Given the description of an element on the screen output the (x, y) to click on. 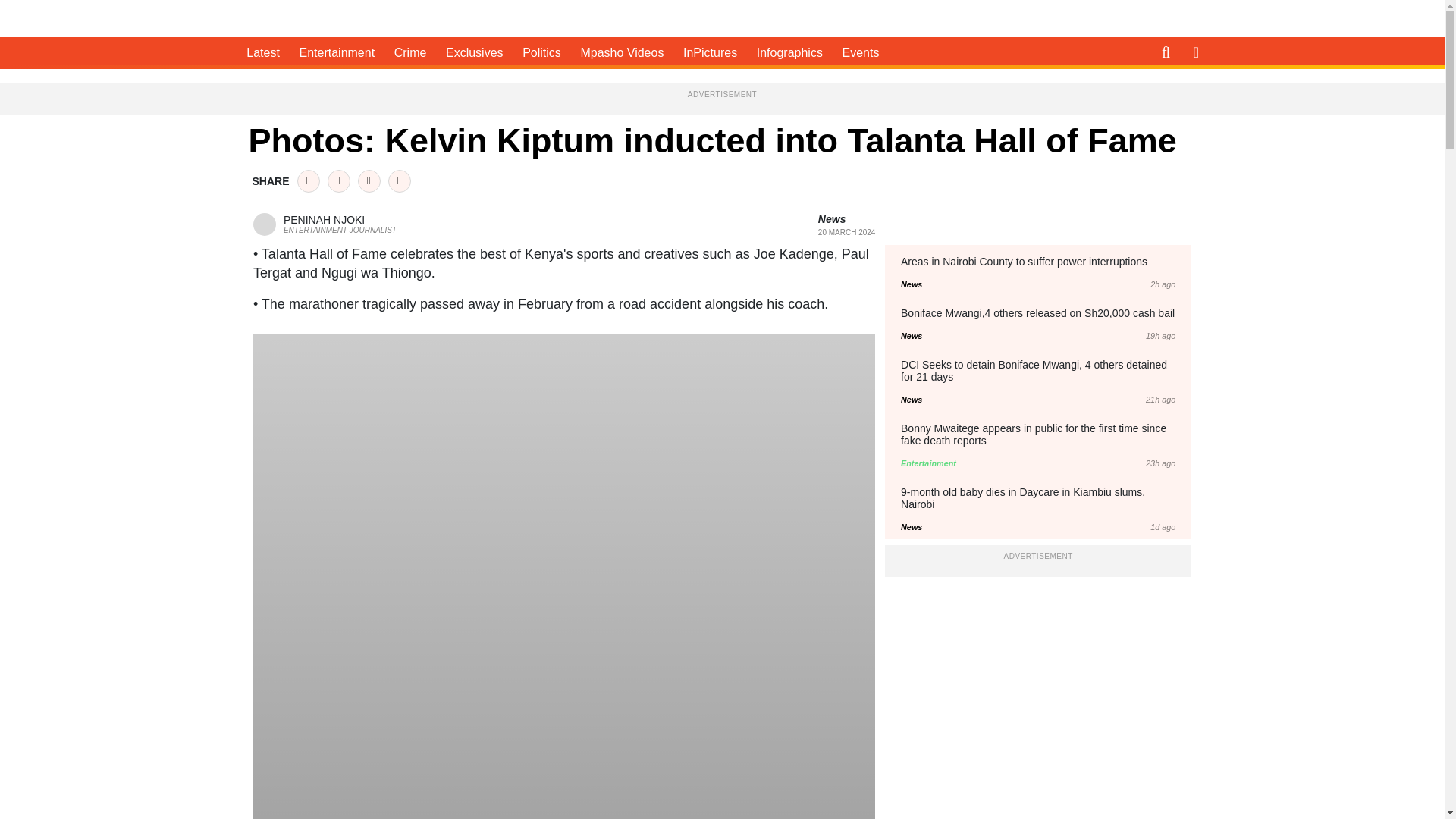
Politics (541, 51)
Latest (262, 51)
News (831, 218)
Entertainment (336, 51)
Crime (410, 51)
Photos: Kelvin Kiptum inducted into Talanta Hall of Fame (314, 17)
Mpasho Videos (621, 51)
Events (860, 51)
Exclusives (324, 223)
InPictures (474, 51)
Infographics (709, 51)
